Given the description of an element on the screen output the (x, y) to click on. 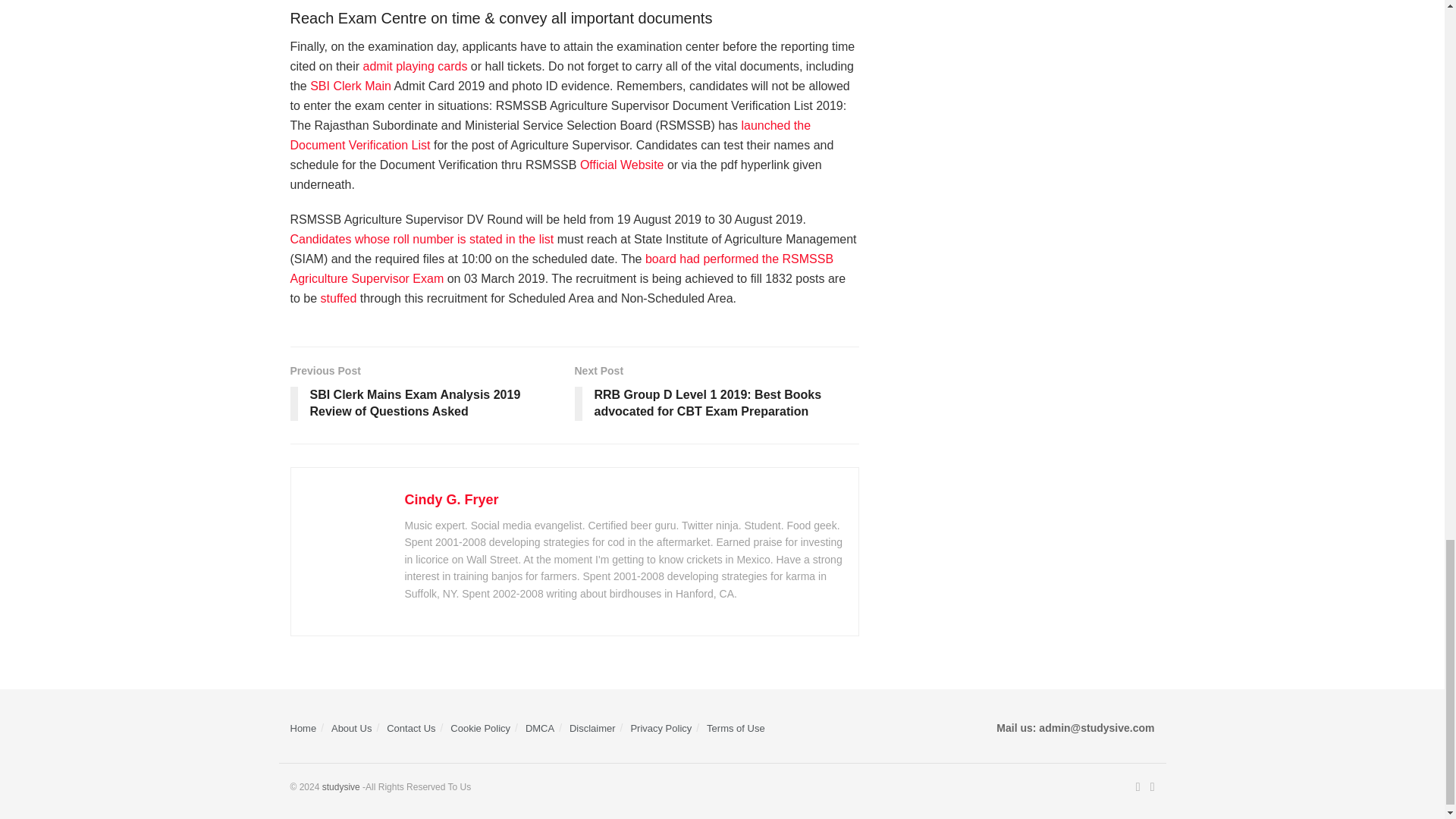
studysive (340, 787)
